Given the description of an element on the screen output the (x, y) to click on. 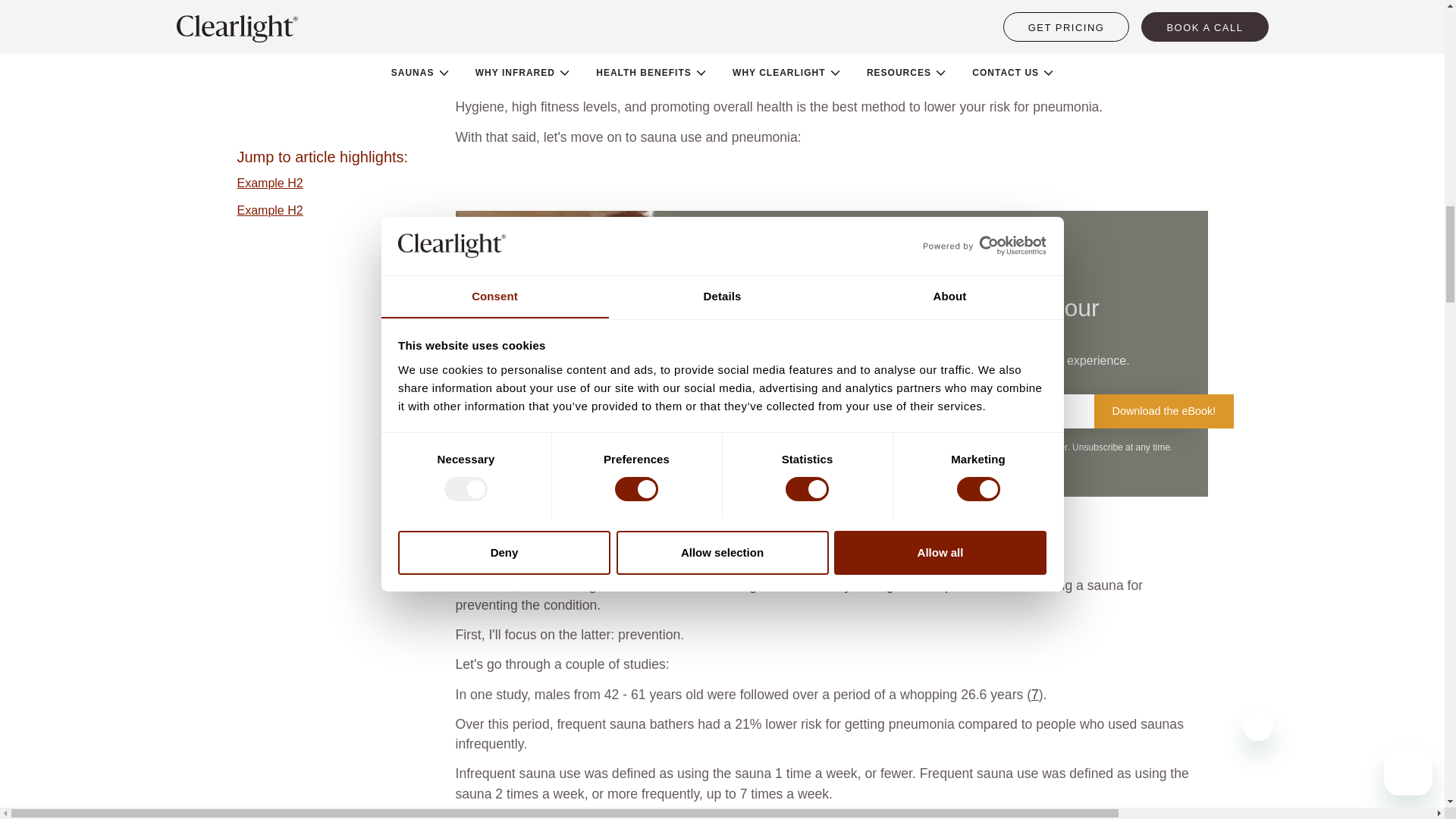
Download the eBook! (1163, 411)
